Given the description of an element on the screen output the (x, y) to click on. 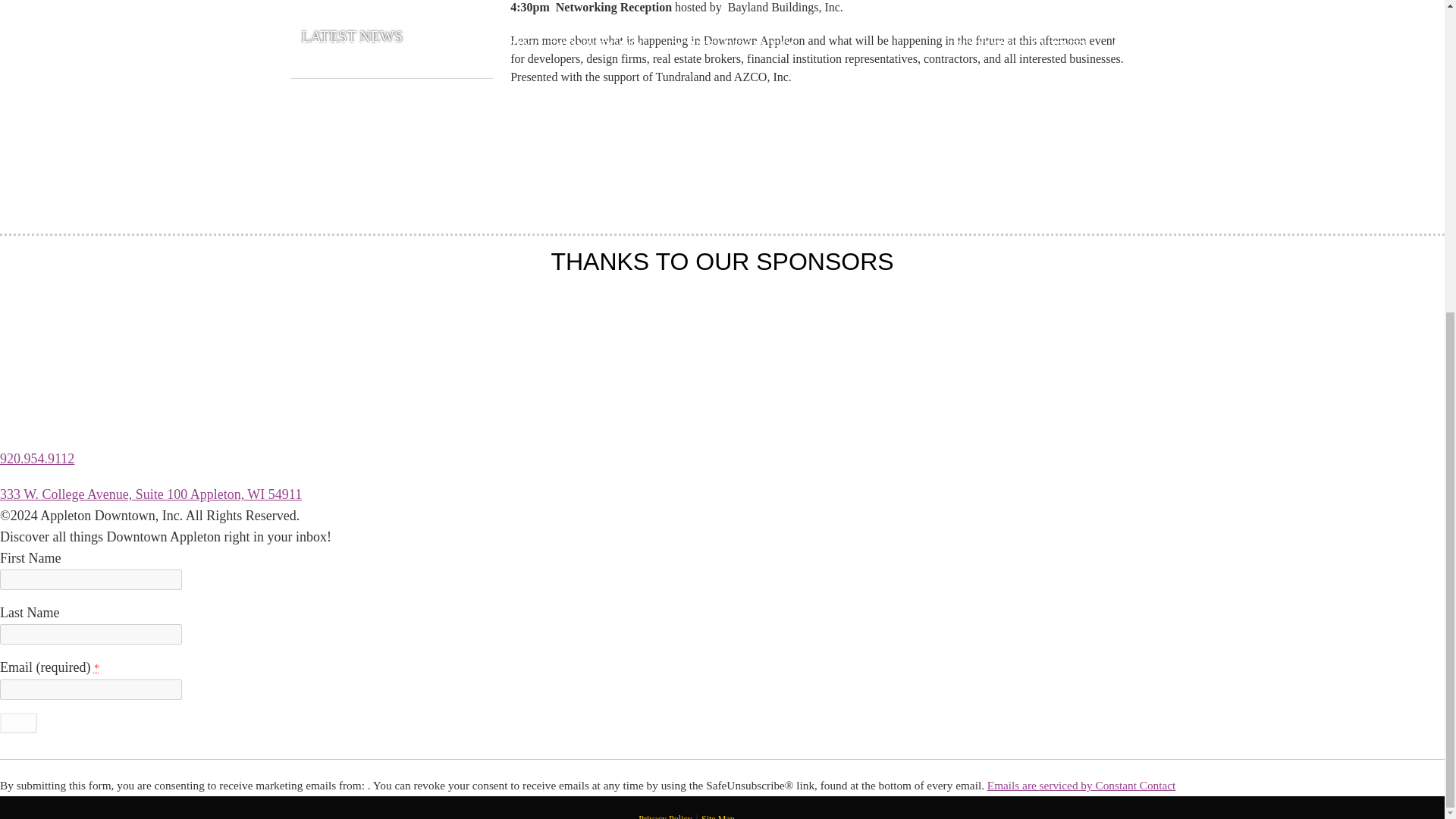
GO! (18, 722)
